Given the description of an element on the screen output the (x, y) to click on. 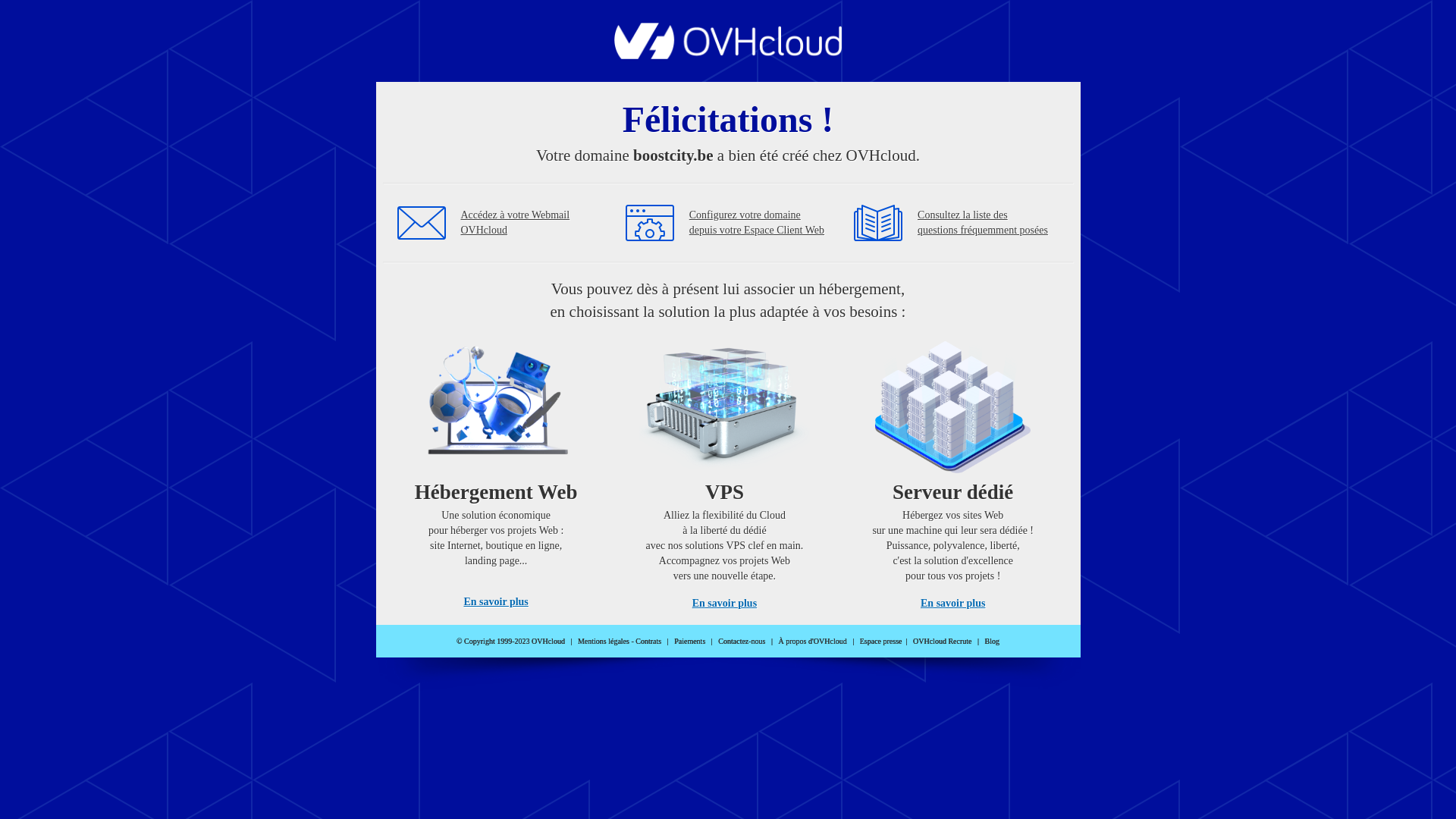
Blog Element type: text (992, 641)
OVHcloud Element type: hover (727, 54)
OVHcloud Recrute Element type: text (942, 641)
Paiements Element type: text (689, 641)
En savoir plus Element type: text (495, 601)
En savoir plus Element type: text (952, 602)
En savoir plus Element type: text (724, 602)
Contactez-nous Element type: text (741, 641)
VPS Element type: hover (724, 469)
Configurez votre domaine
depuis votre Espace Client Web Element type: text (756, 222)
Espace presse Element type: text (880, 641)
